Given the description of an element on the screen output the (x, y) to click on. 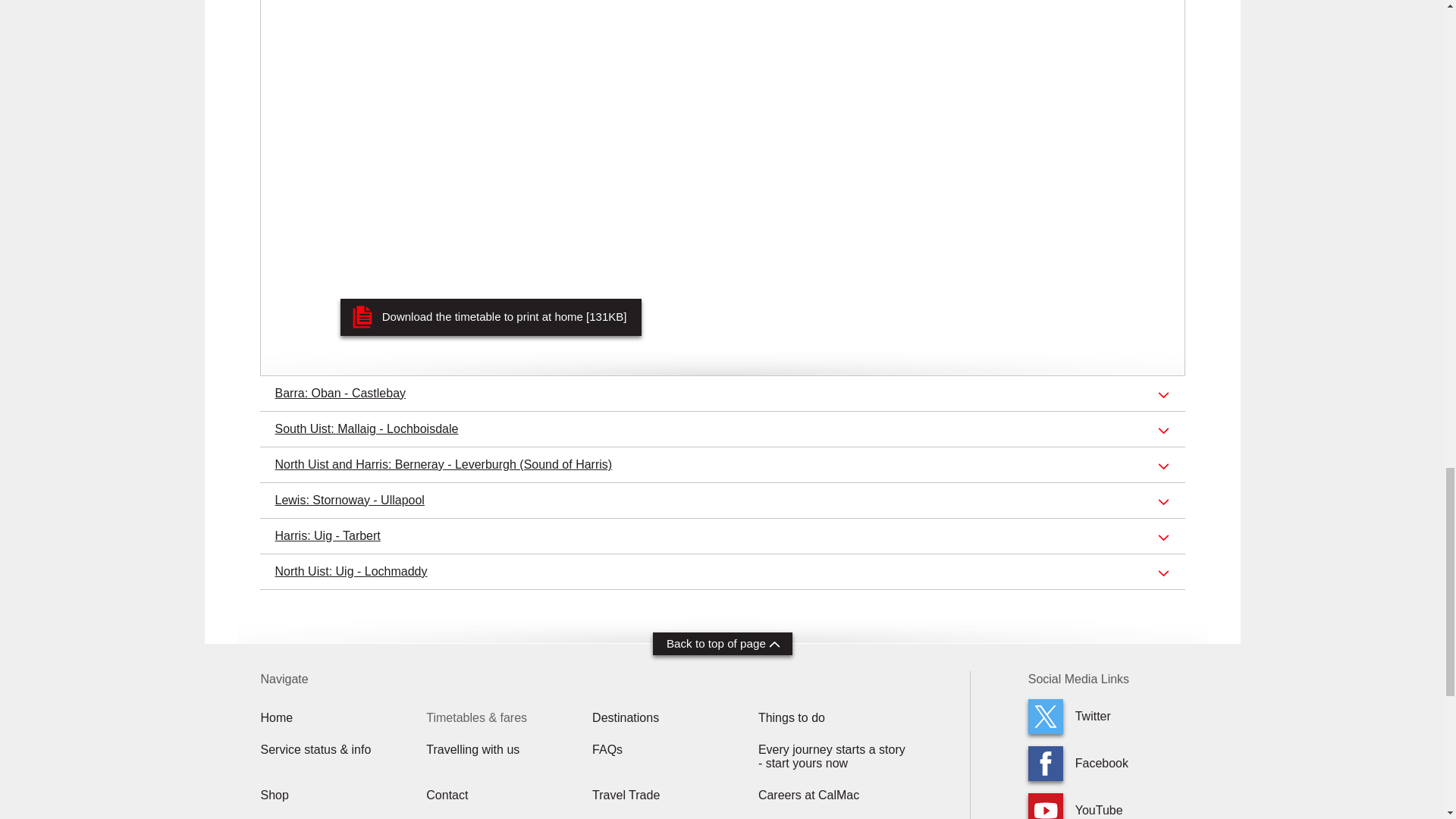
Footer link to Destinations (625, 717)
Footer link to Things to do (791, 717)
Footer link to Shop (274, 794)
Footer link to Careers at CalMac (808, 794)
Footer link to Travelling with us (472, 748)
Footer link to Travel Trade (625, 794)
Footer link to FAQs (607, 748)
Footer link to Contact (446, 794)
Link to homepage (277, 717)
